Given the description of an element on the screen output the (x, y) to click on. 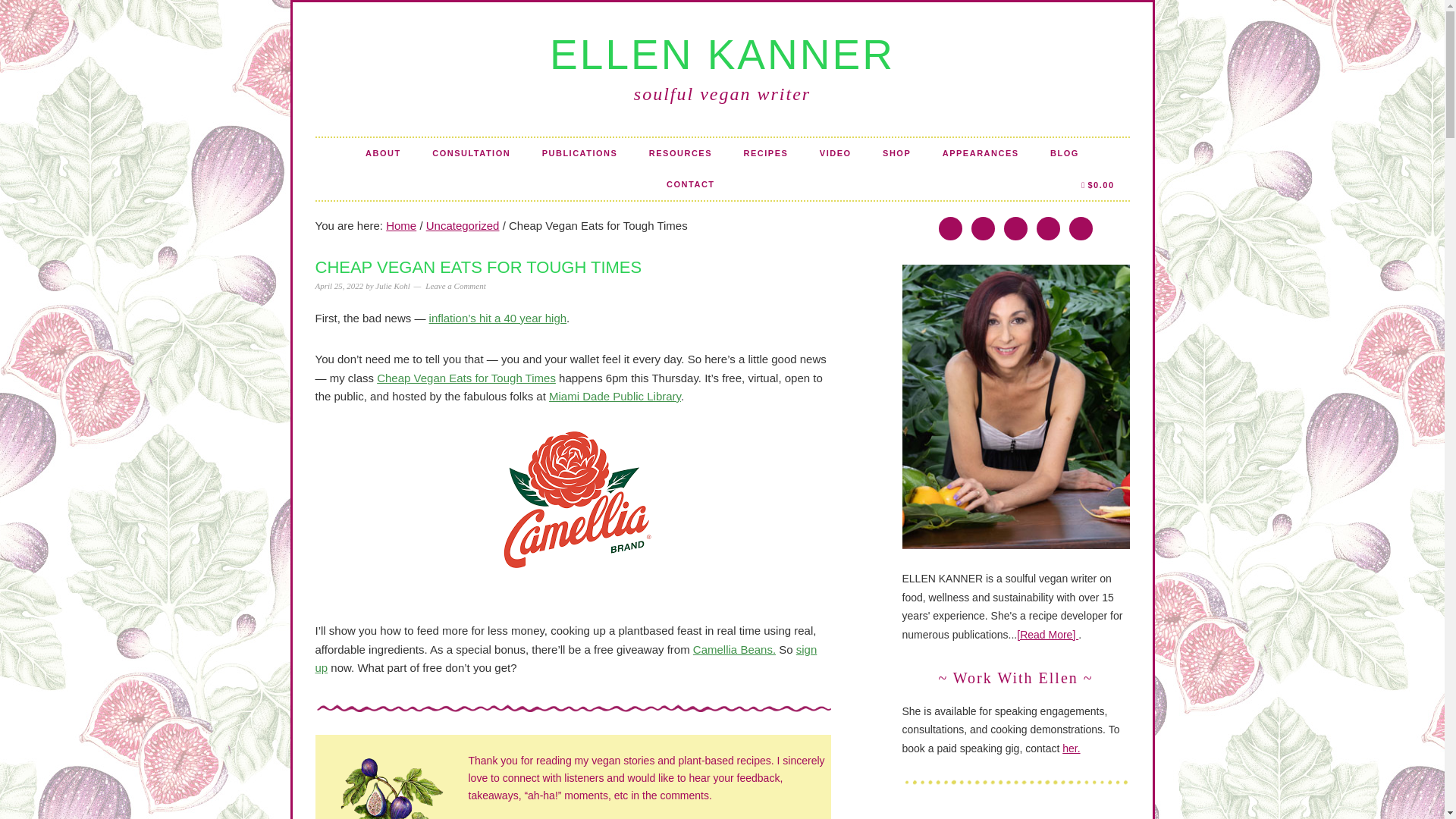
sign up (565, 658)
CONSULTATION (470, 153)
Camellia Beans. (734, 649)
RECIPES (766, 153)
Miami Dade Public Library (614, 395)
RESOURCES (679, 153)
ELLEN KANNER (722, 54)
Leave a Comment (454, 285)
Julie Kohl (392, 285)
BLOG (1064, 153)
PUBLICATIONS (580, 153)
Uncategorized (462, 225)
Start shopping (1097, 184)
VIDEO (835, 153)
ABOUT (383, 153)
